Given the description of an element on the screen output the (x, y) to click on. 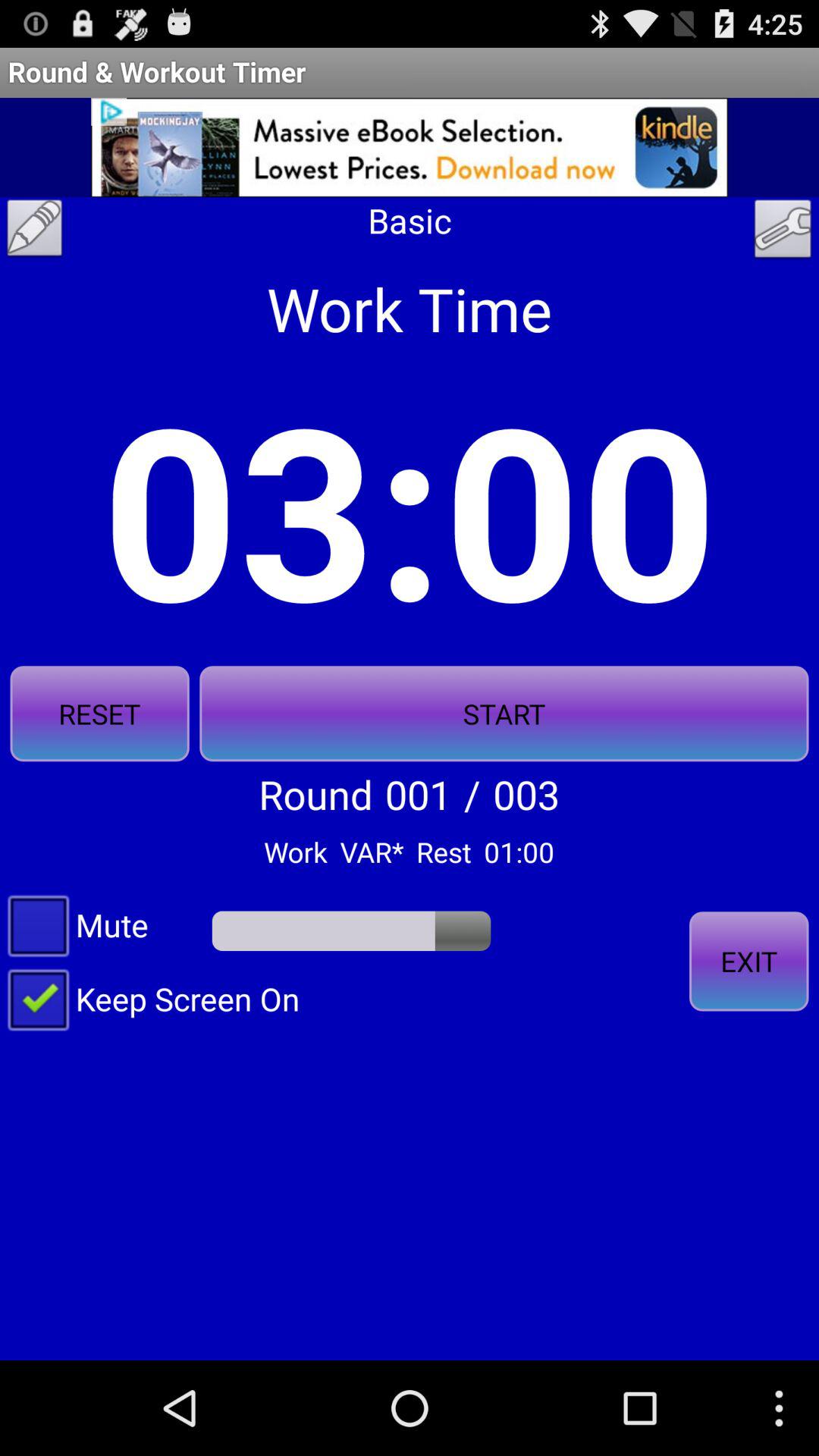
choose the item to the left of the exit icon (149, 998)
